Given the description of an element on the screen output the (x, y) to click on. 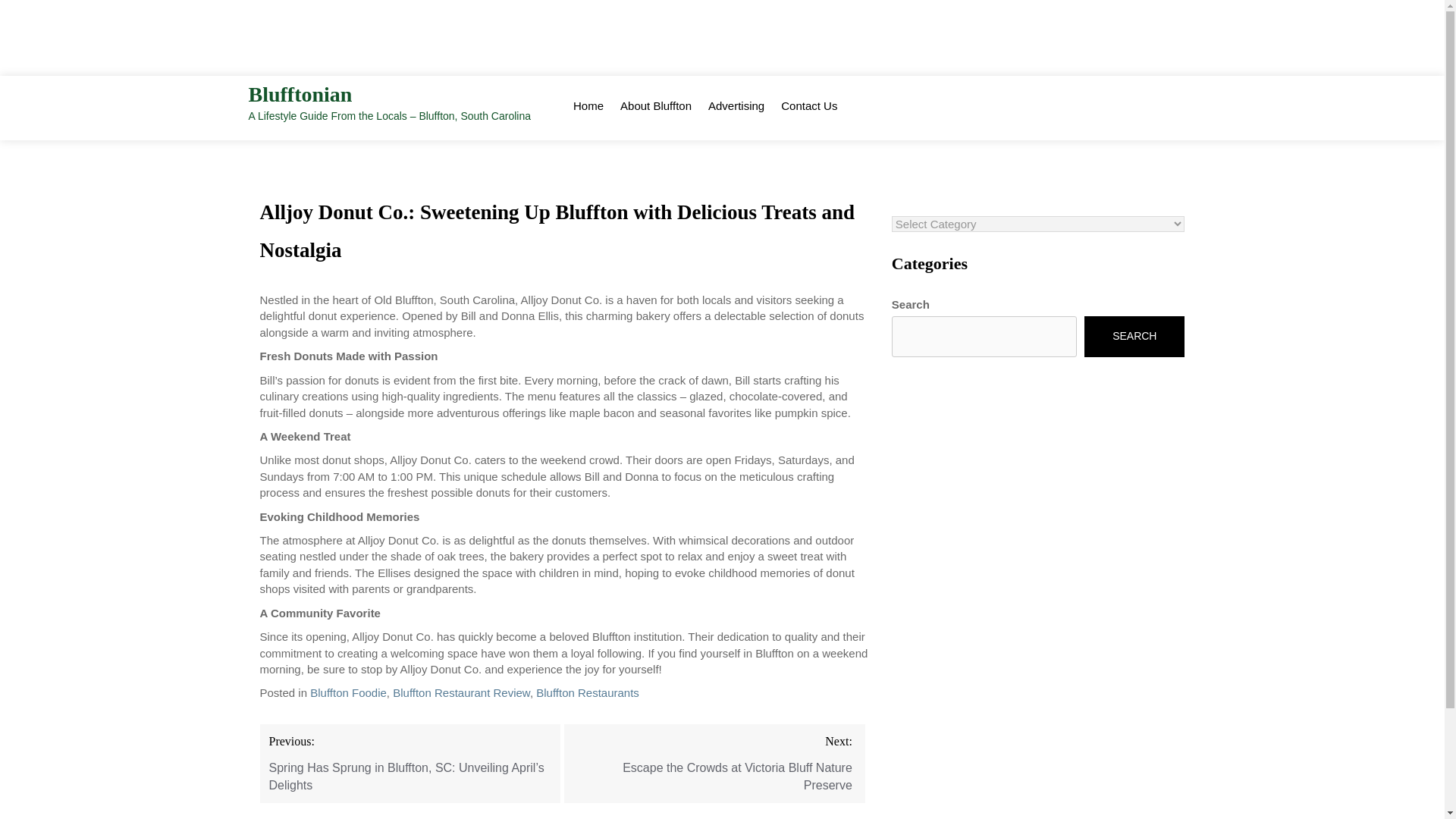
About Bluffton (655, 104)
Bluffton Restaurants (587, 692)
Bluffton Restaurant Review (461, 692)
Advertising (736, 104)
Home (587, 104)
Contact Us (809, 104)
Bluffton Foodie (348, 692)
Home (587, 104)
Blufftonian (300, 94)
SEARCH (1134, 336)
